Given the description of an element on the screen output the (x, y) to click on. 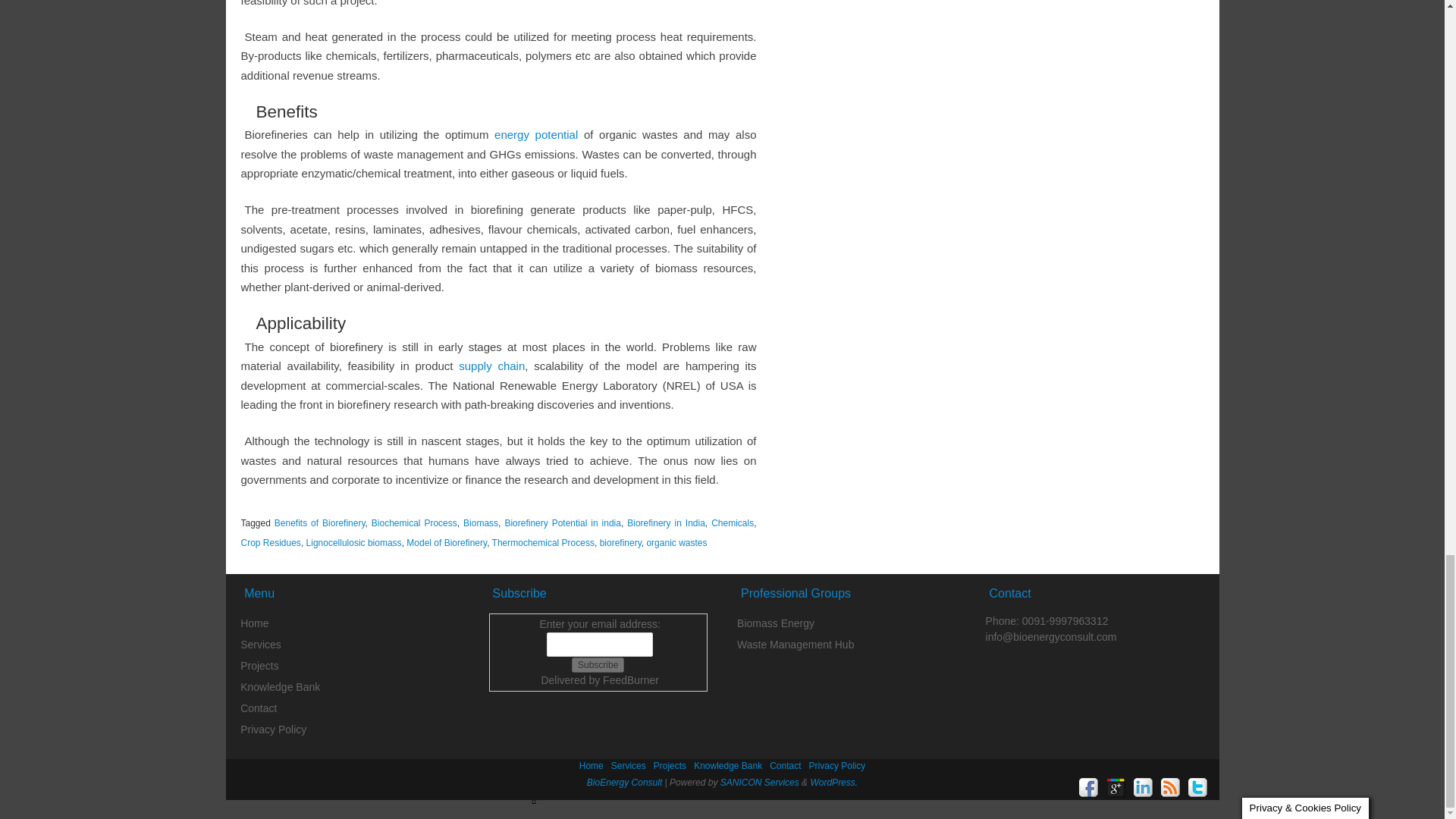
Biorefinery Potential in india (562, 522)
Biochemical Process (414, 522)
Crop Residues (271, 542)
biorefinery (620, 542)
Thermochemical Process (543, 542)
energy potential (536, 133)
Lignocellulosic biomass (353, 542)
Subscribe (598, 664)
Chemicals (732, 522)
Model of Biorefinery (446, 542)
Biomass (480, 522)
supply chain (491, 365)
Benefits of Biorefinery (320, 522)
organic wastes (676, 542)
Biorefinery in India (665, 522)
